Given the description of an element on the screen output the (x, y) to click on. 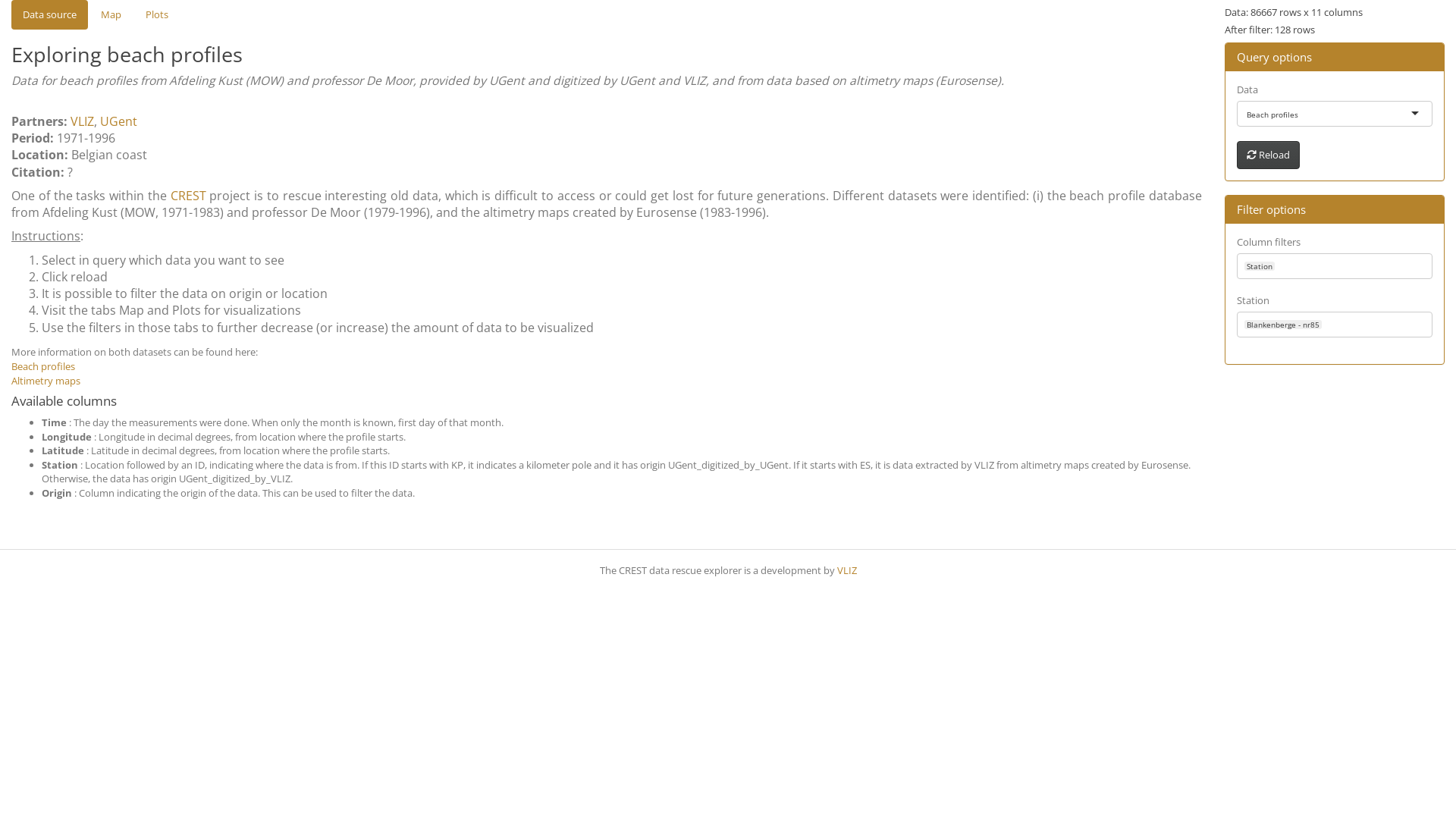
Plots Element type: text (156, 14)
Reload Element type: text (1267, 155)
Map Element type: text (110, 14)
Filter options Element type: text (1270, 208)
Altimetry maps Element type: text (45, 380)
UGent Element type: text (118, 120)
VLIZ Element type: text (846, 570)
Beach profiles Element type: text (43, 366)
Query options Element type: text (1273, 56)
Data source Element type: text (49, 14)
CREST Element type: text (188, 195)
VLIZ Element type: text (82, 120)
